Given the description of an element on the screen output the (x, y) to click on. 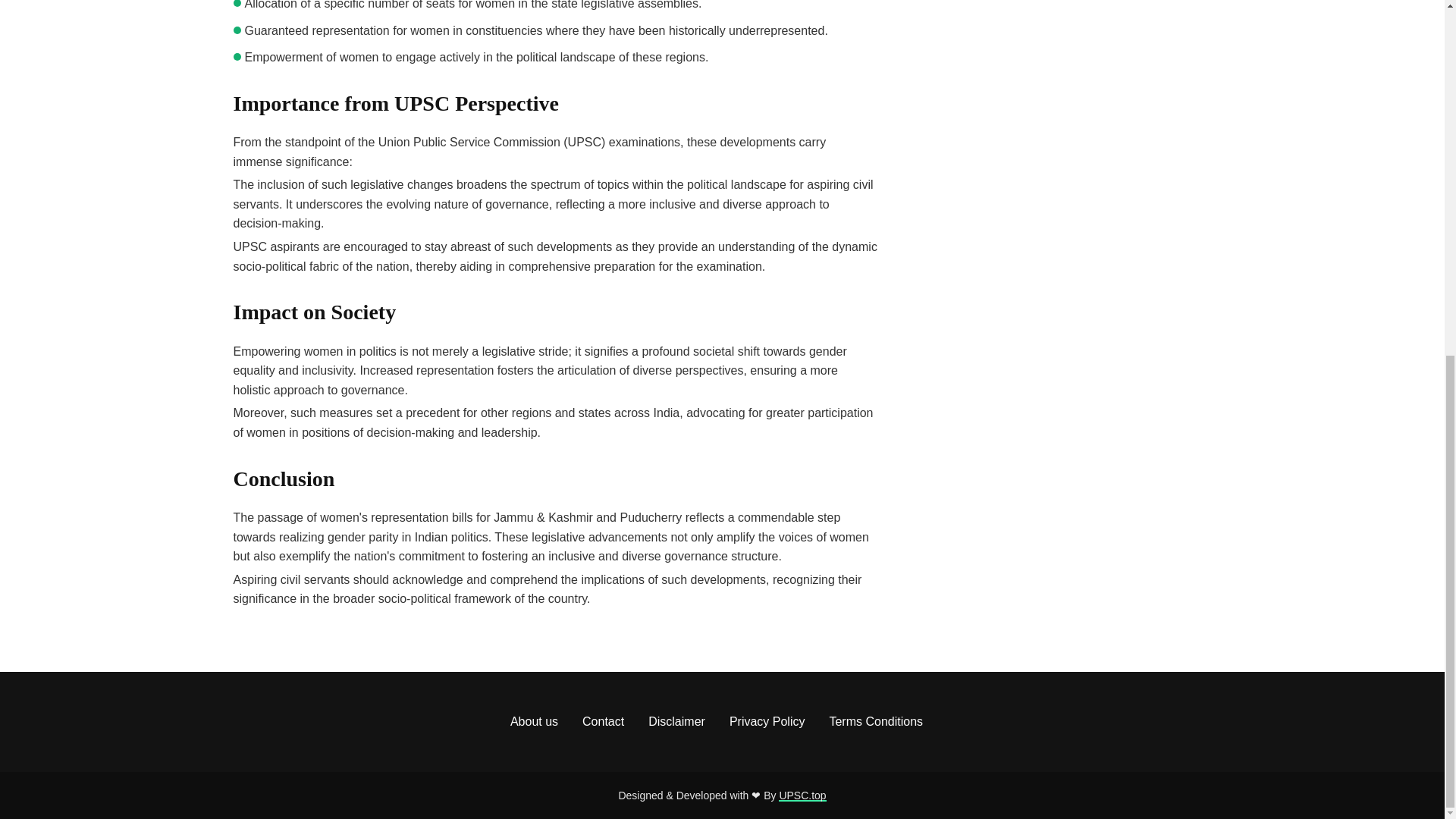
Terms Conditions (875, 721)
About us (533, 721)
UPSC.top (801, 795)
Contact (603, 721)
Disclaimer (676, 721)
Privacy Policy (766, 721)
